Given the description of an element on the screen output the (x, y) to click on. 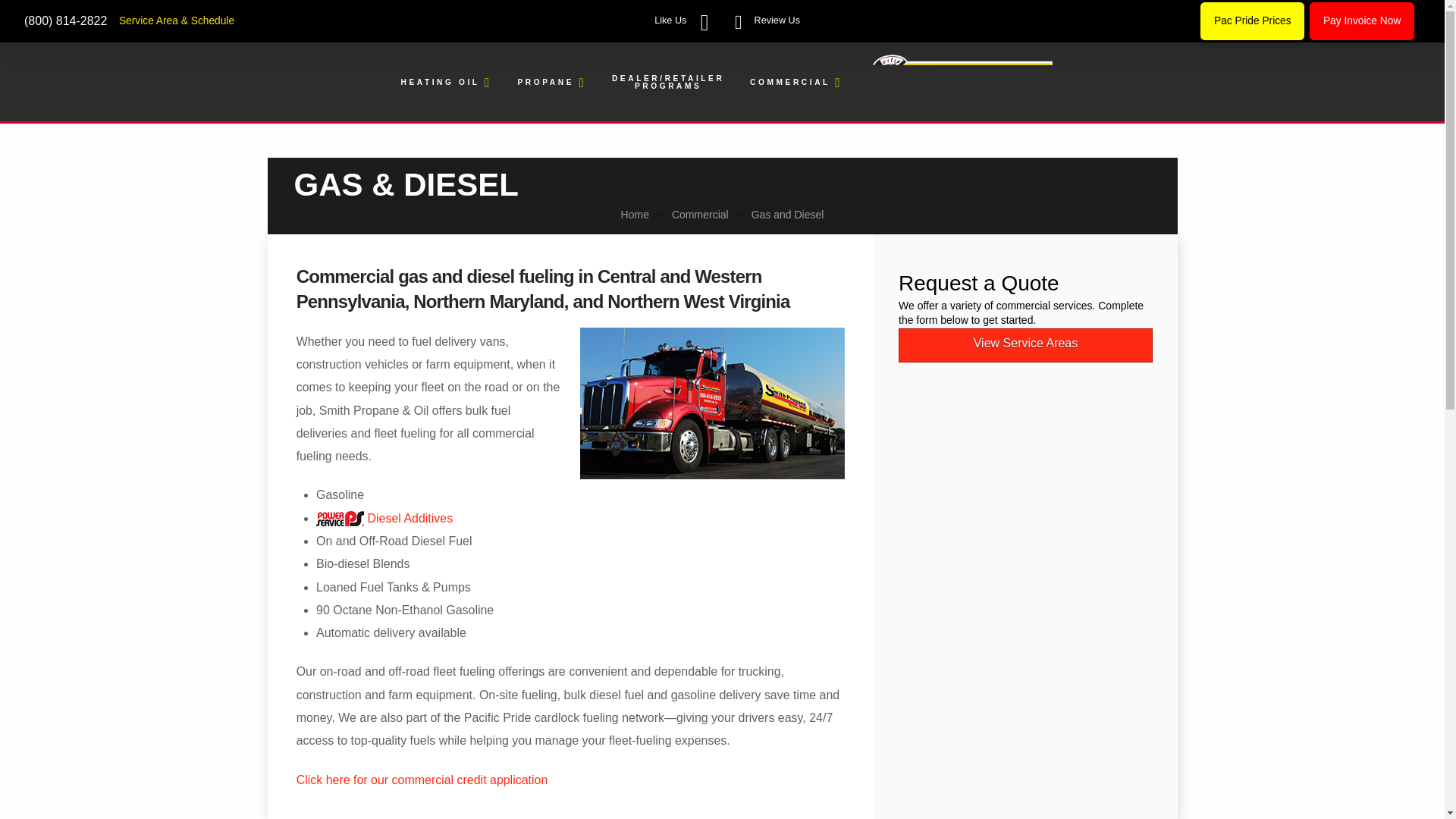
Pac Pride Prices (1251, 20)
Diesel Additives (383, 517)
Home (635, 214)
View Service Areas (1025, 345)
Pay Invoice Now (1360, 20)
Click here for our commercial credit application (422, 779)
HEATING OIL (445, 82)
COMMERCIAL (794, 82)
Commercial (700, 214)
You Are Here (787, 214)
